Given the description of an element on the screen output the (x, y) to click on. 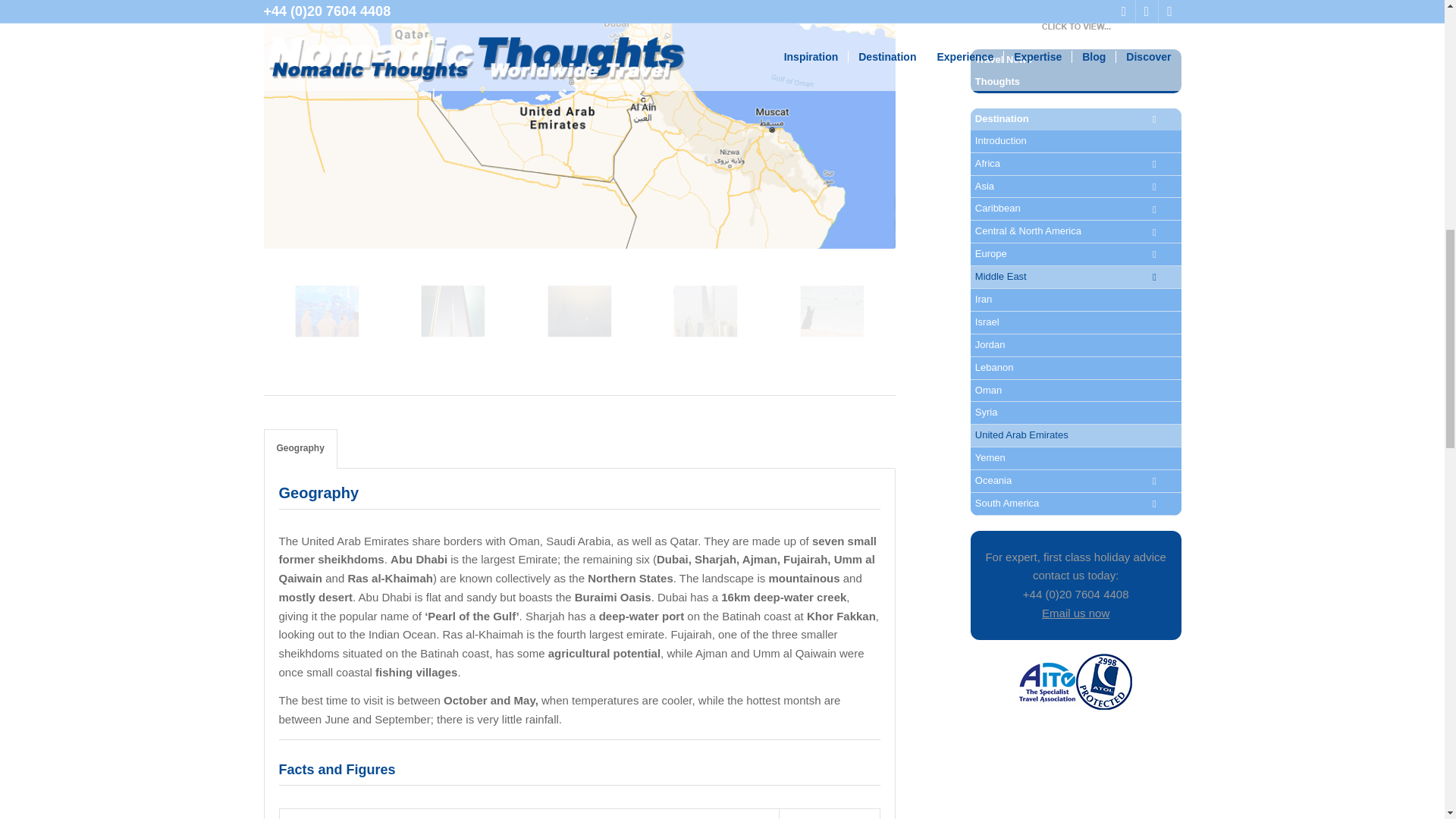
burgalkalifibetweenthetowerscopyrightnomadic-thoughts (485, 336)
burgalkalifibetweenthetowerscopyrightnomadic-thoughts (453, 311)
uae-aquarium-copyright-noma (358, 336)
uae-aquarium-copyright-noma (326, 311)
